Given the description of an element on the screen output the (x, y) to click on. 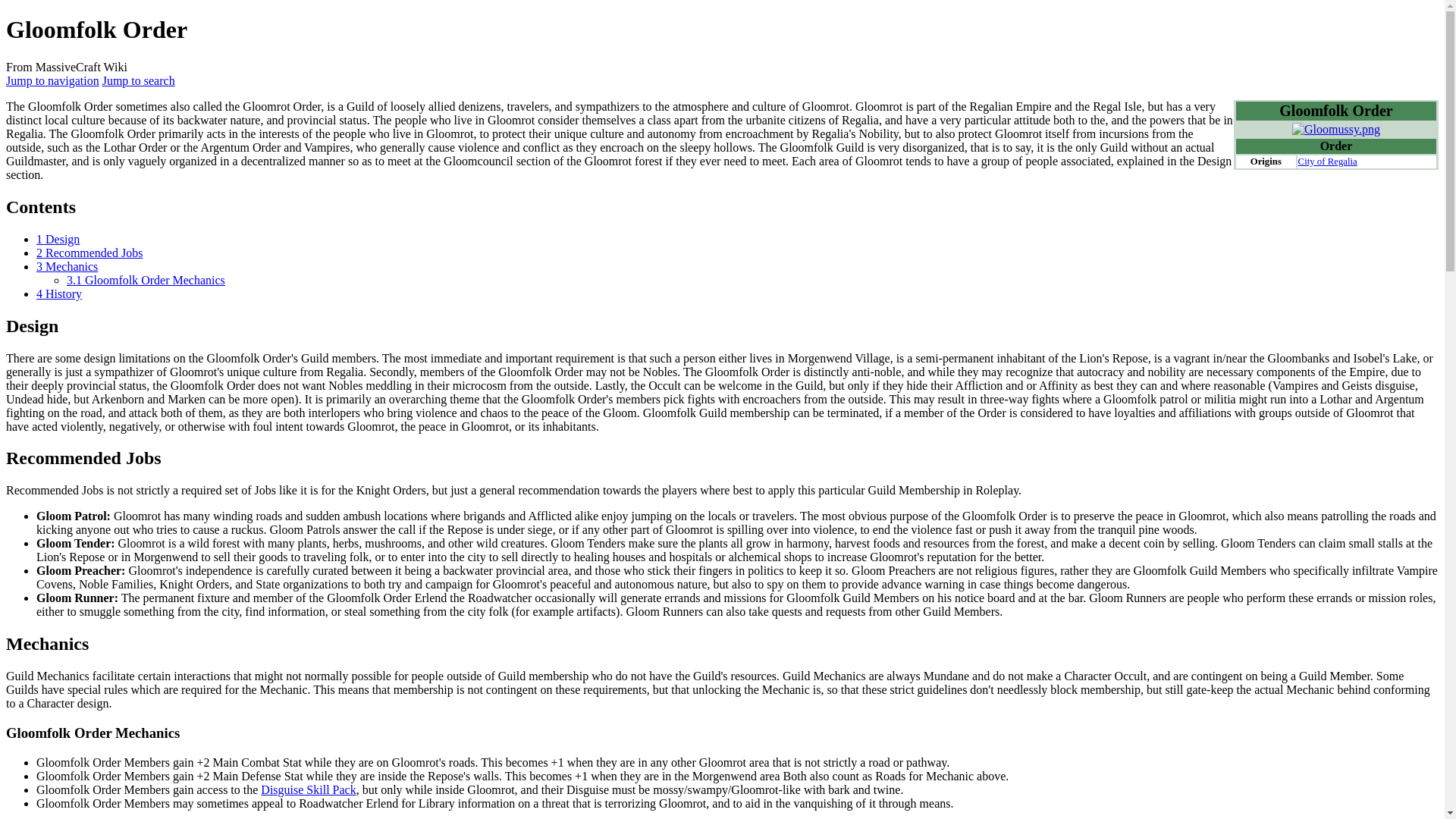
3 Mechanics (66, 266)
Jump to search (137, 80)
1 Design (58, 238)
4 History (58, 293)
City of Regalia (1327, 161)
Jump to navigation (52, 80)
Disguise Skill Pack (307, 789)
3.1 Gloomfolk Order Mechanics (145, 279)
2 Recommended Jobs (89, 252)
Roguery Point Buy (307, 789)
City of Regalia (1327, 161)
